Given the description of an element on the screen output the (x, y) to click on. 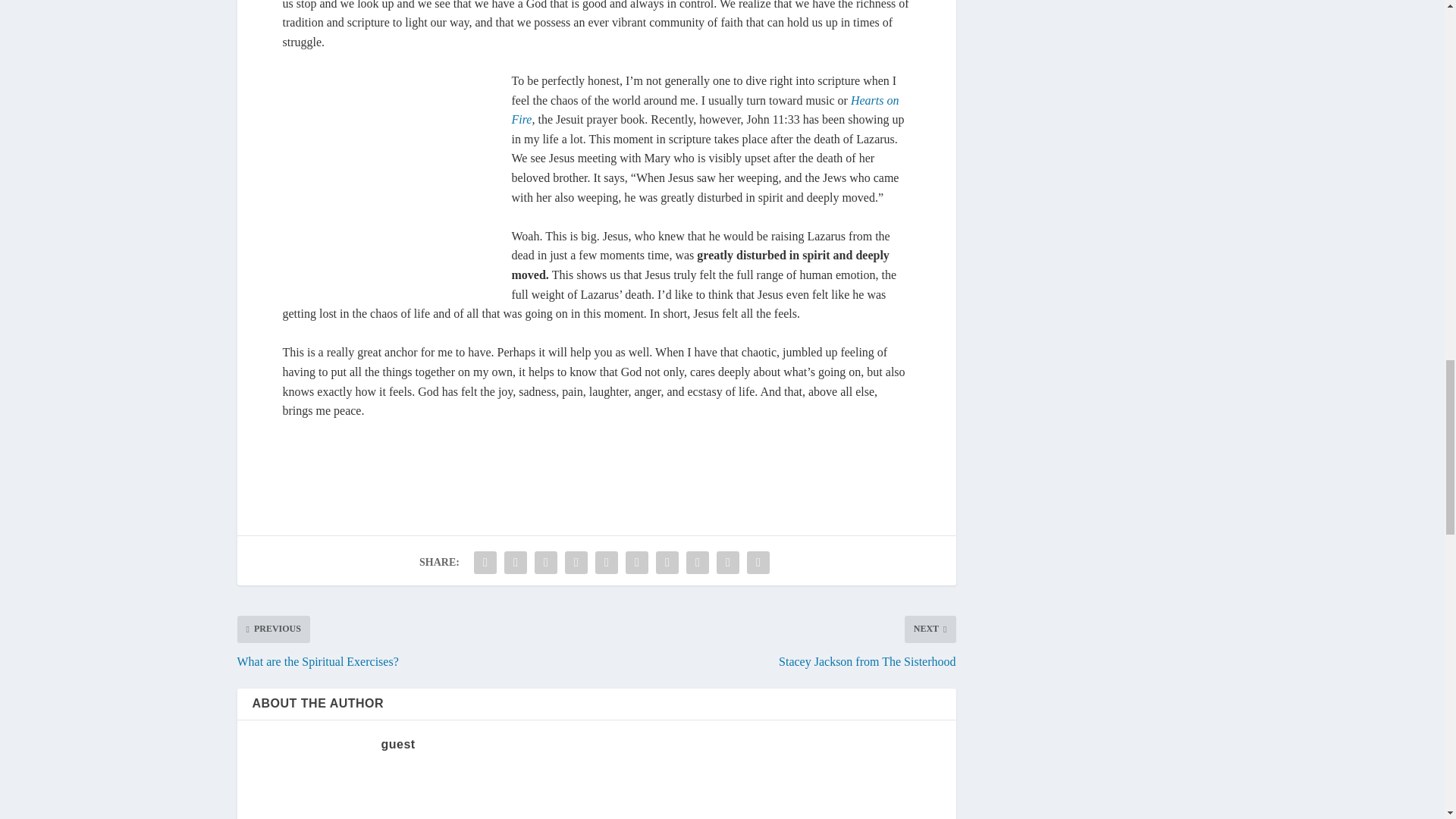
Share "Some Assembly Required" via Twitter (515, 562)
Share "Some Assembly Required" via LinkedIn (636, 562)
Share "Some Assembly Required" via Pinterest (606, 562)
Share "Some Assembly Required" via Buffer (667, 562)
Share "Some Assembly Required" via Print (757, 562)
View all posts by guest (397, 744)
Share "Some Assembly Required" via Facebook (485, 562)
Share "Some Assembly Required" via Tumblr (575, 562)
Share "Some Assembly Required" via Email (727, 562)
Share "Some Assembly Required" via Stumbleupon (697, 562)
